Given the description of an element on the screen output the (x, y) to click on. 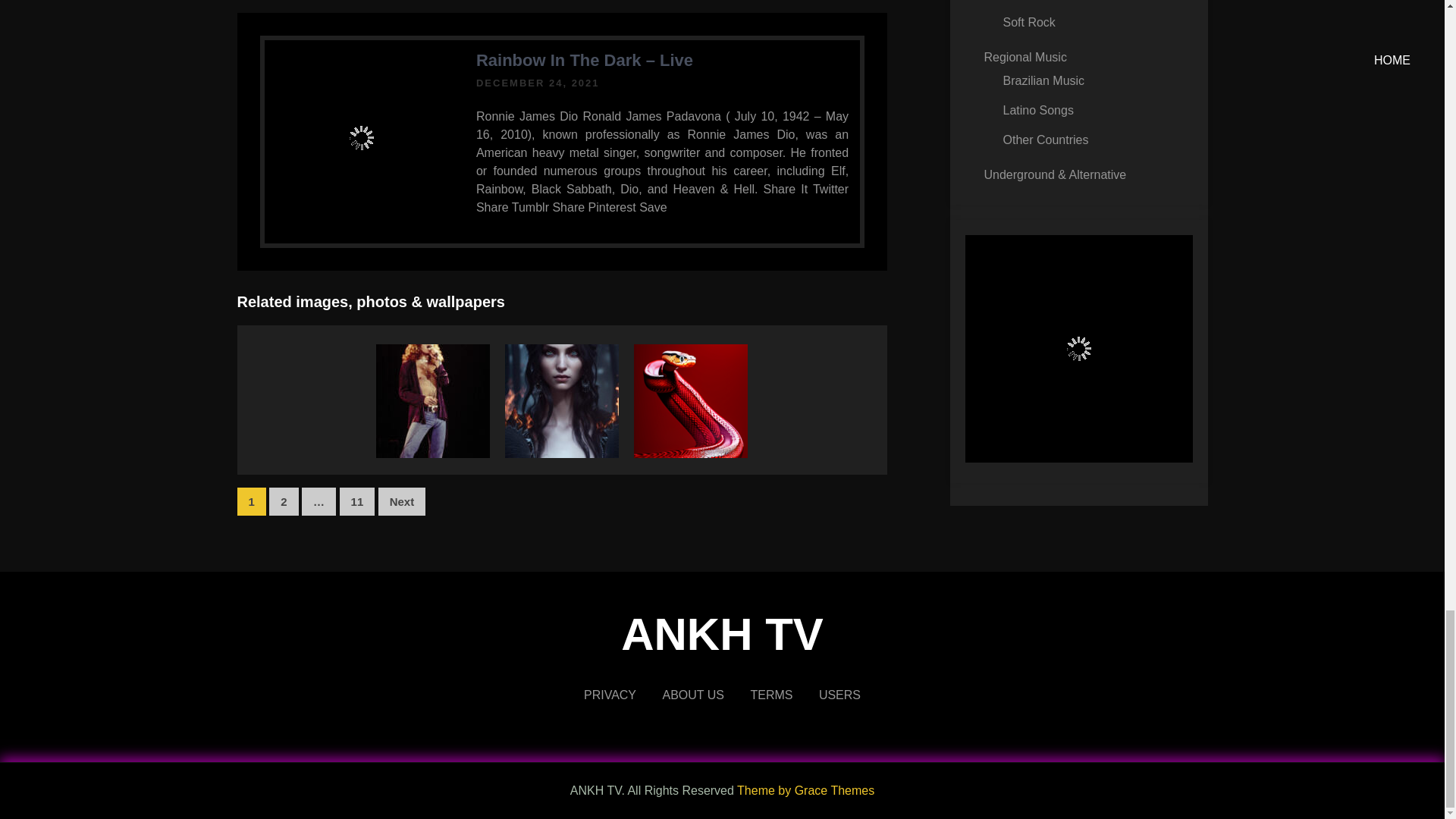
2 (283, 501)
Devil Red (690, 453)
The Queen 05 (561, 453)
Robert Plant 02 (432, 453)
11 (357, 501)
Next (402, 501)
From Ronnie James Dio Gallery (362, 137)
